Given the description of an element on the screen output the (x, y) to click on. 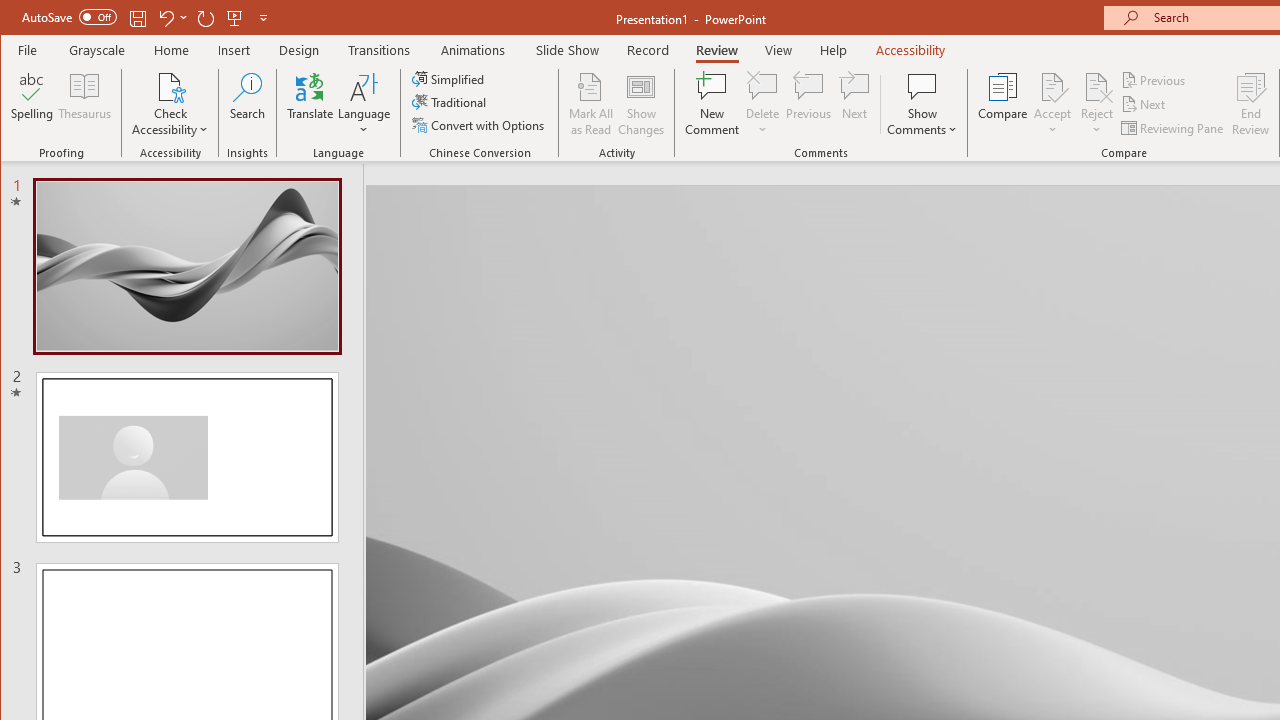
Traditional (450, 101)
New Comment (712, 104)
Accept Change (1052, 86)
Reject Change (1096, 86)
Reject (1096, 104)
Grayscale (97, 50)
Reviewing Pane (1173, 127)
